Given the description of an element on the screen output the (x, y) to click on. 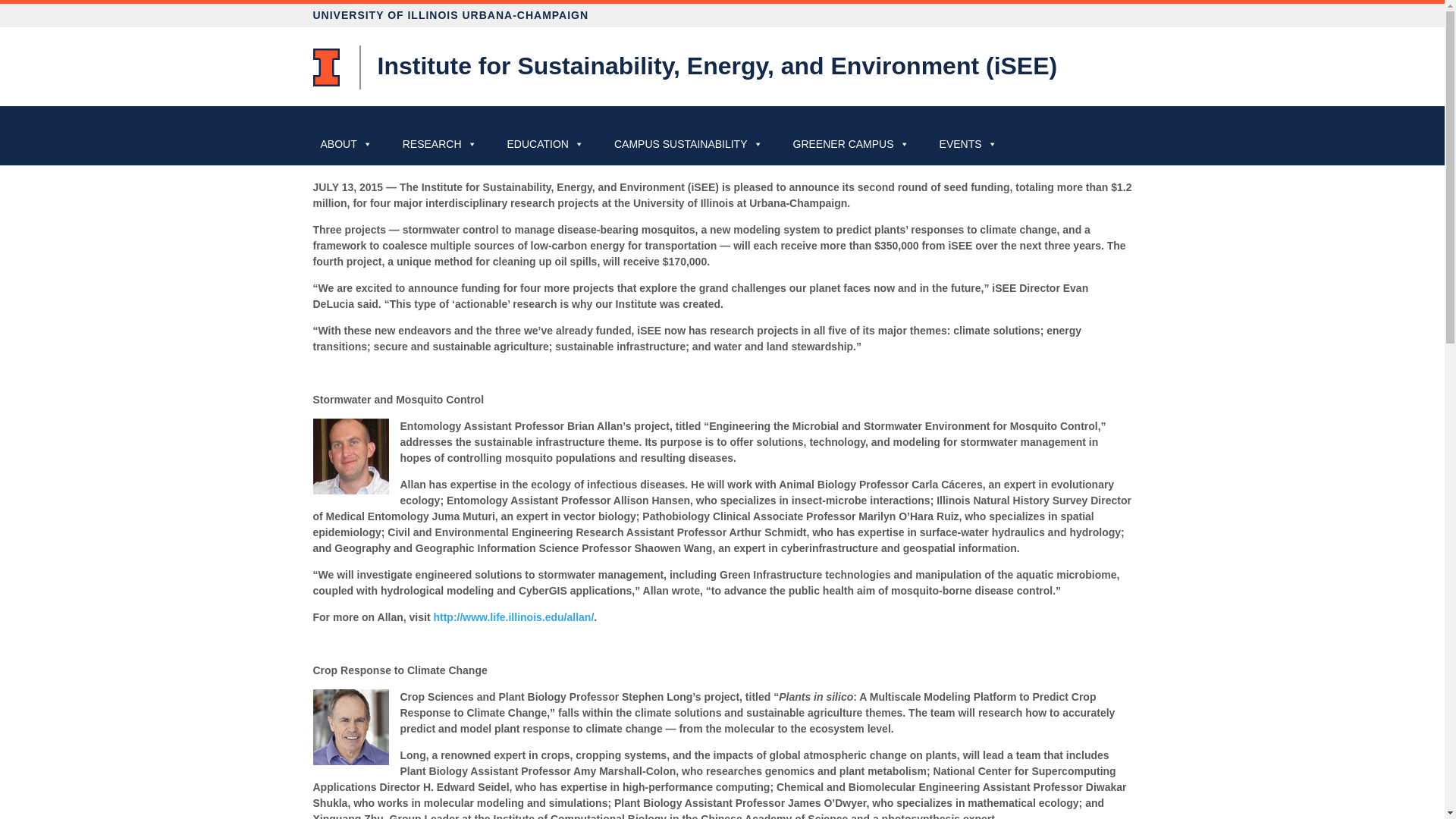
EDUCATION (545, 144)
RESEARCH (439, 144)
ABOUT (345, 144)
CAMPUS SUSTAINABILITY (688, 144)
UNIVERSITY OF ILLINOIS URBANA-CHAMPAIGN (722, 15)
